Given the description of an element on the screen output the (x, y) to click on. 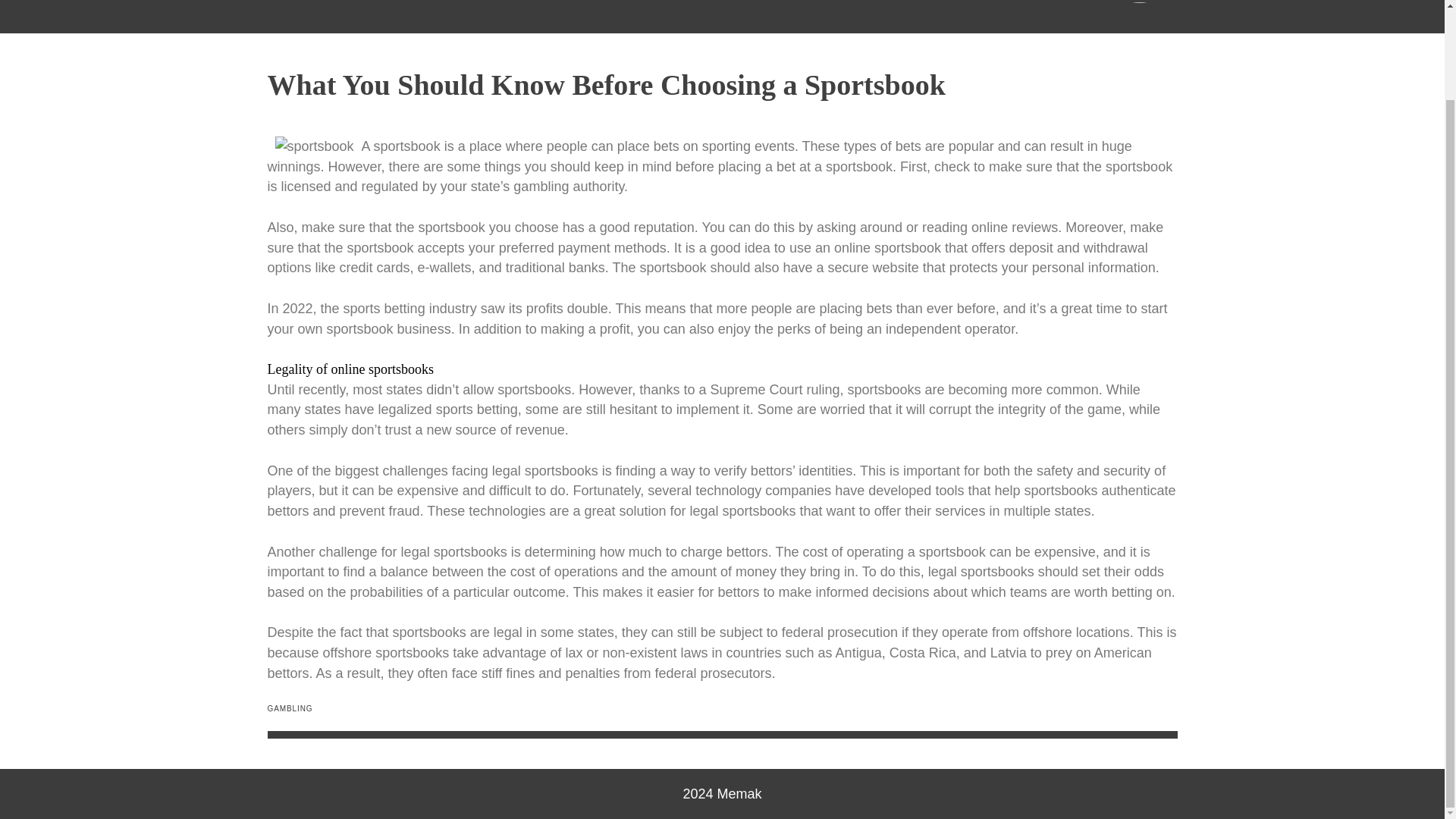
GAMBLING (289, 708)
